Given the description of an element on the screen output the (x, y) to click on. 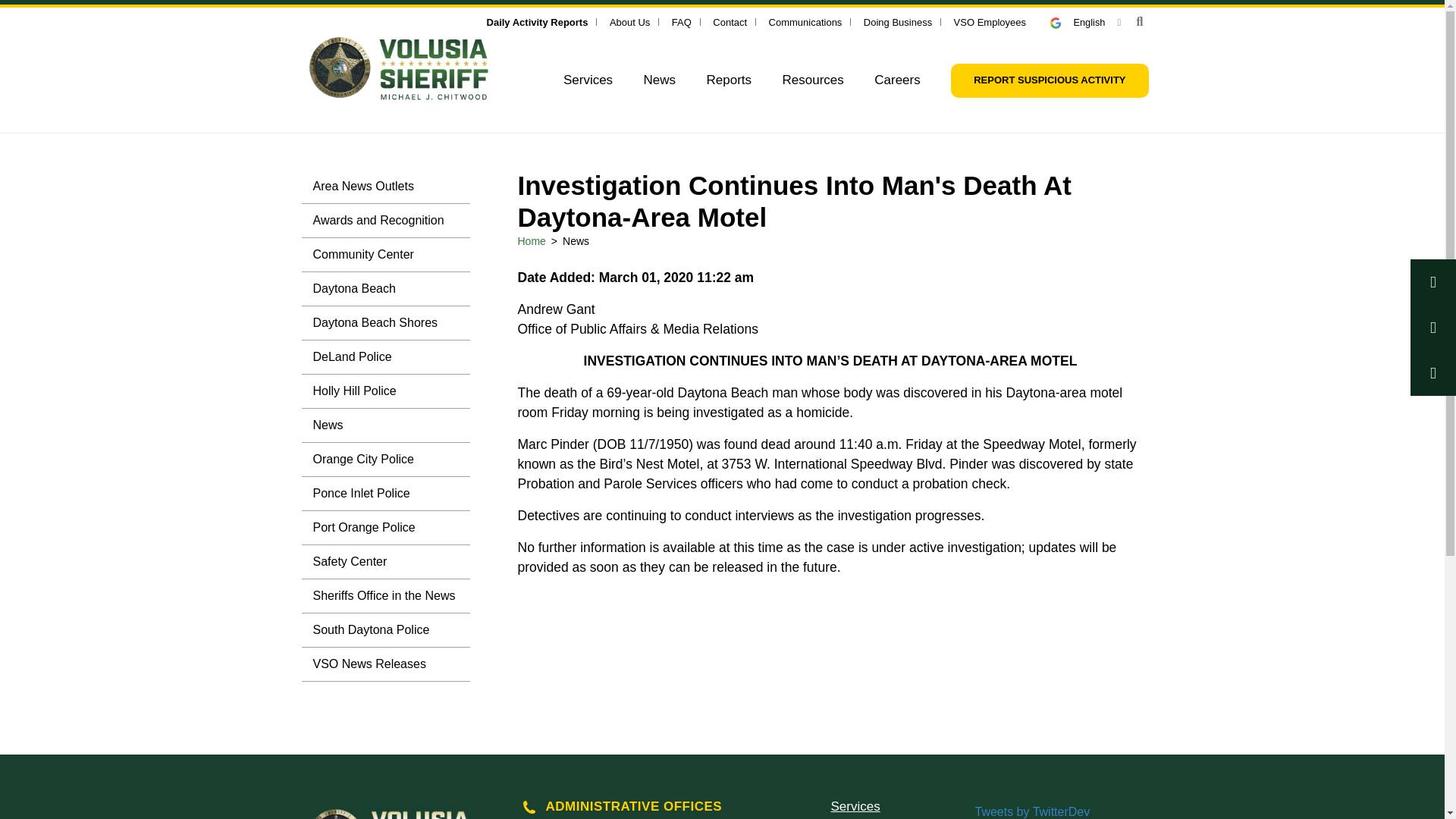
Communications (805, 21)
English (1085, 21)
Translate (1061, 22)
Doing Business (897, 21)
Daily Activity Reports (537, 21)
FAQ (681, 21)
Translate (1085, 21)
About Us (629, 21)
Contact (729, 21)
VSO Employees (989, 21)
